Given the description of an element on the screen output the (x, y) to click on. 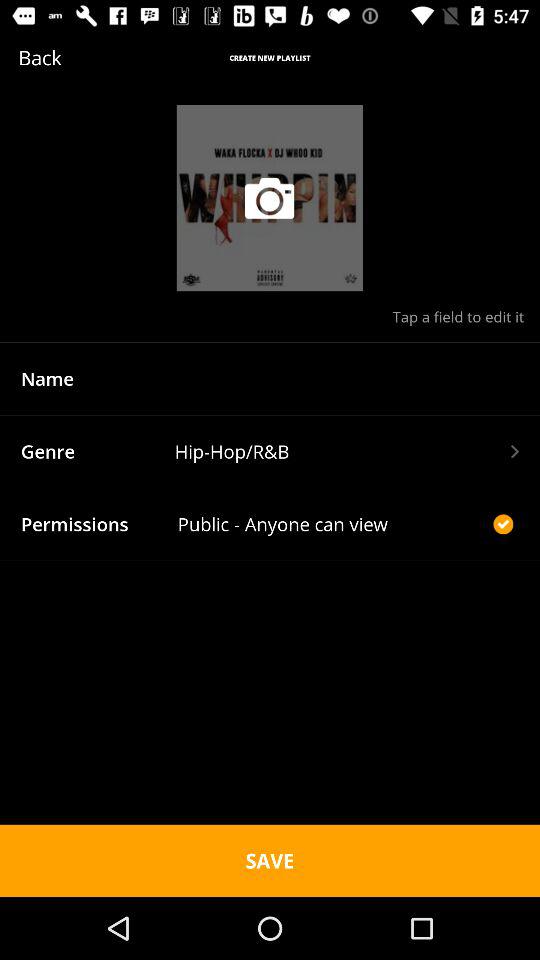
open icon on the right (503, 524)
